Given the description of an element on the screen output the (x, y) to click on. 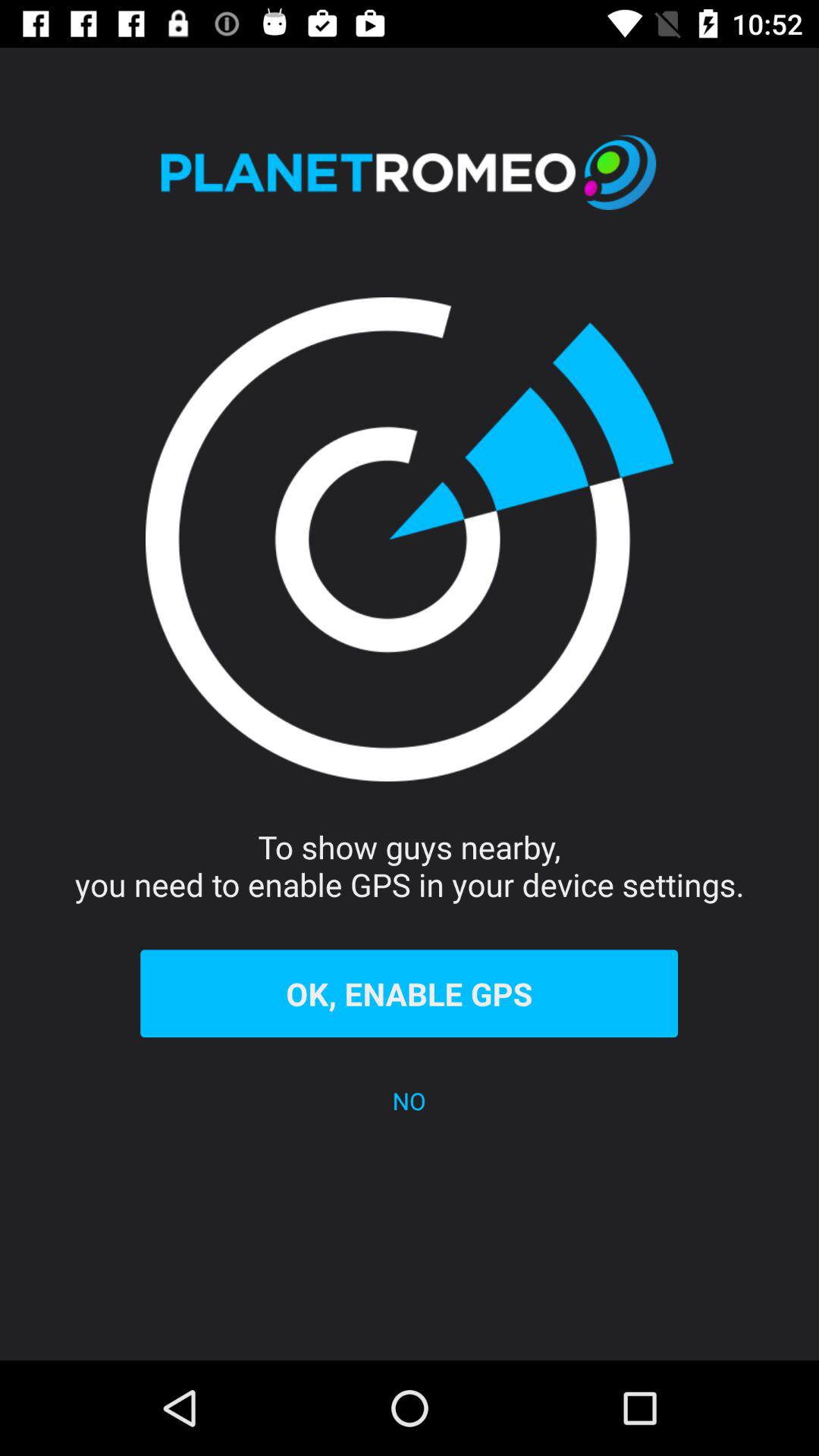
tap the no icon (408, 1100)
